Given the description of an element on the screen output the (x, y) to click on. 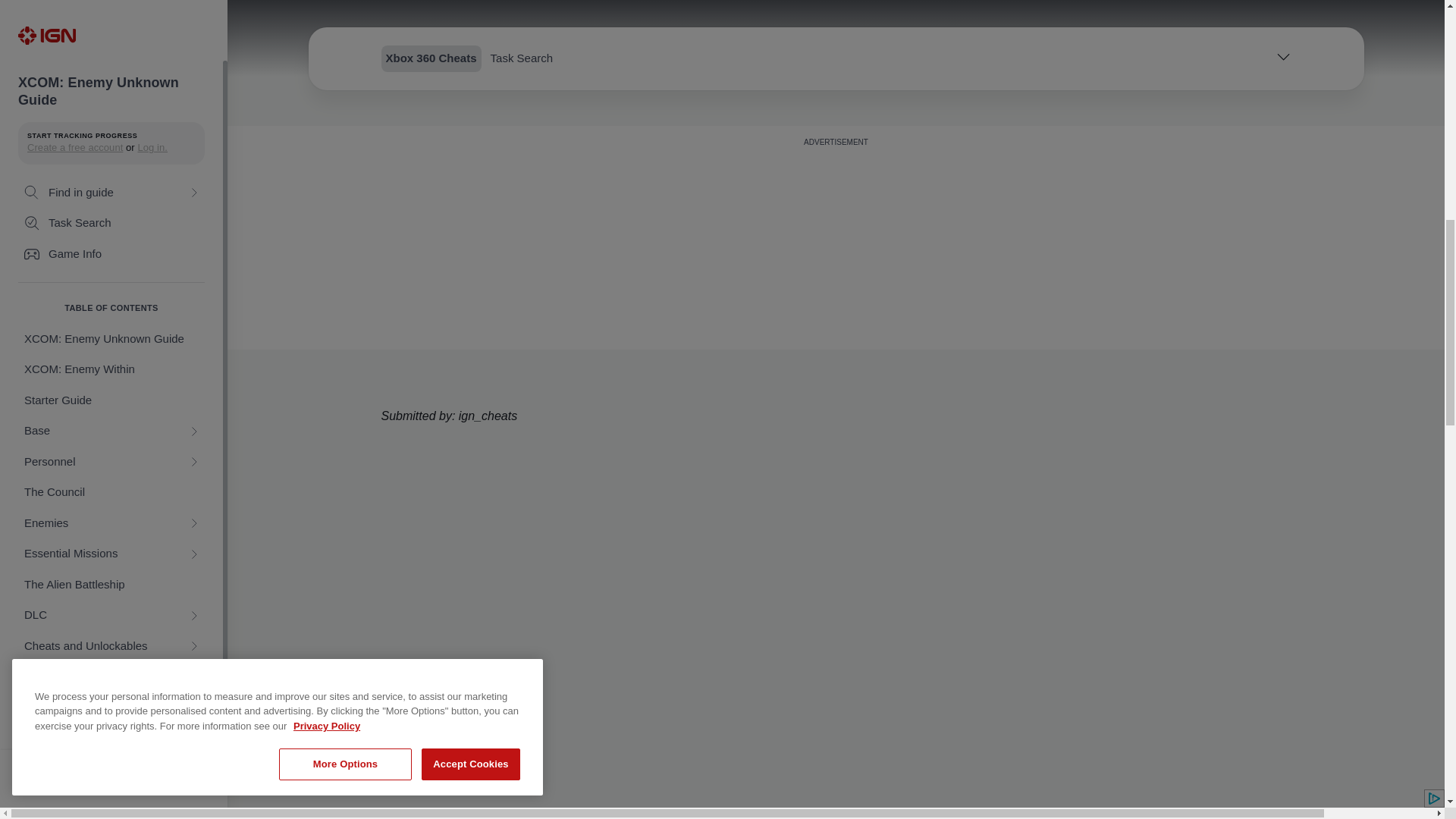
Xbox 360 Cheats (111, 13)
